Given the description of an element on the screen output the (x, y) to click on. 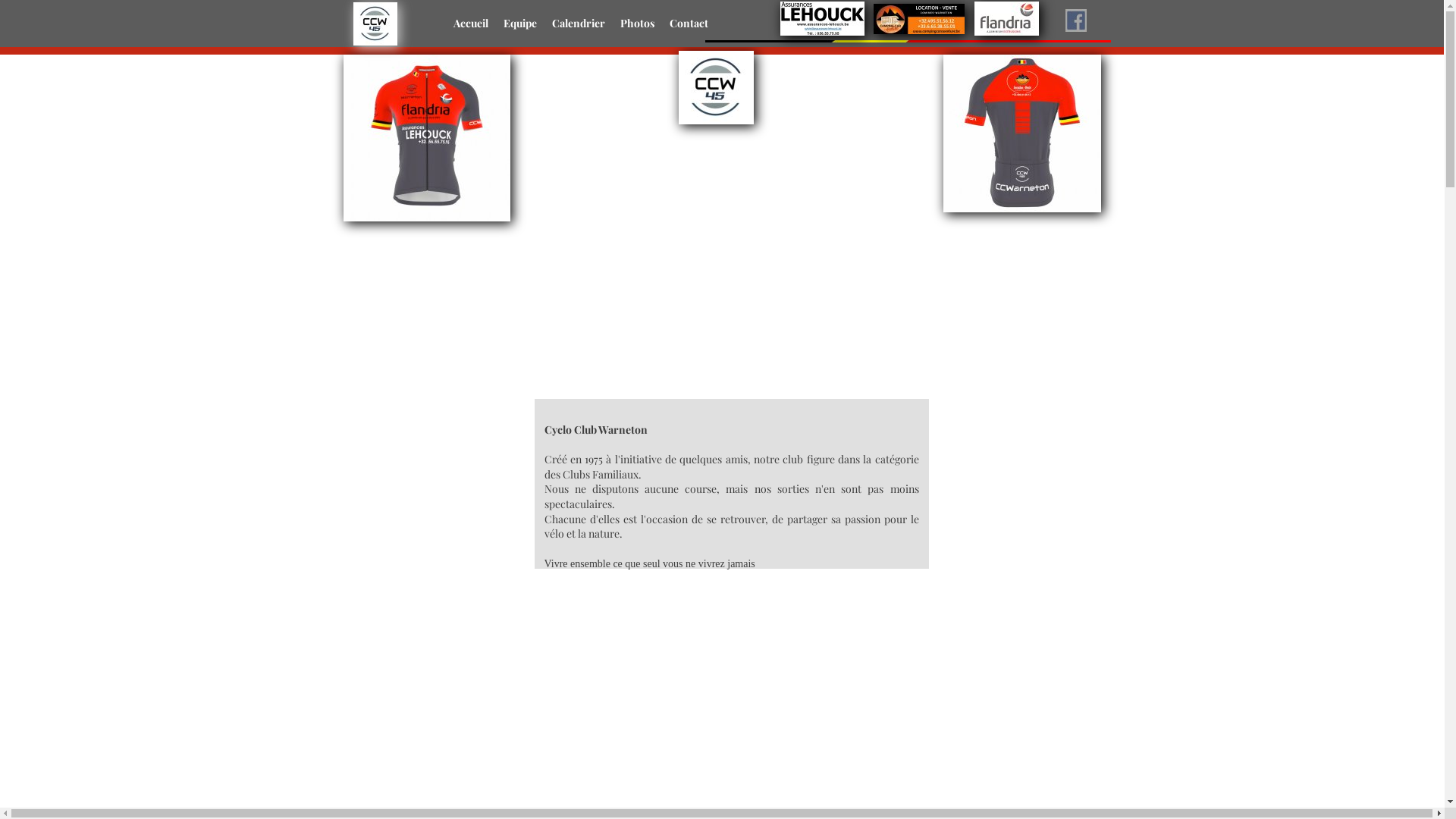
Photos Element type: text (637, 23)
Sponsor : Assurances Lehouck Element type: hover (822, 18)
Calendrier Element type: text (578, 23)
Equipe Element type: text (519, 23)
45 ans du Cyclo Club Warneton Element type: hover (716, 87)
Contact Element type: text (688, 23)
Cyclo Club Warneton - Equipement Element type: hover (426, 137)
Sponsor : Flandria Aluminium Extrusions Element type: hover (1006, 18)
CCWarneton Element type: hover (375, 22)
Accueil Element type: text (470, 23)
Sponsor : Campingcaraventure.be Element type: hover (918, 18)
Belgian Flag Element type: hover (907, 41)
Cyclo Club Warneton - Equipement Element type: hover (1022, 133)
